Given the description of an element on the screen output the (x, y) to click on. 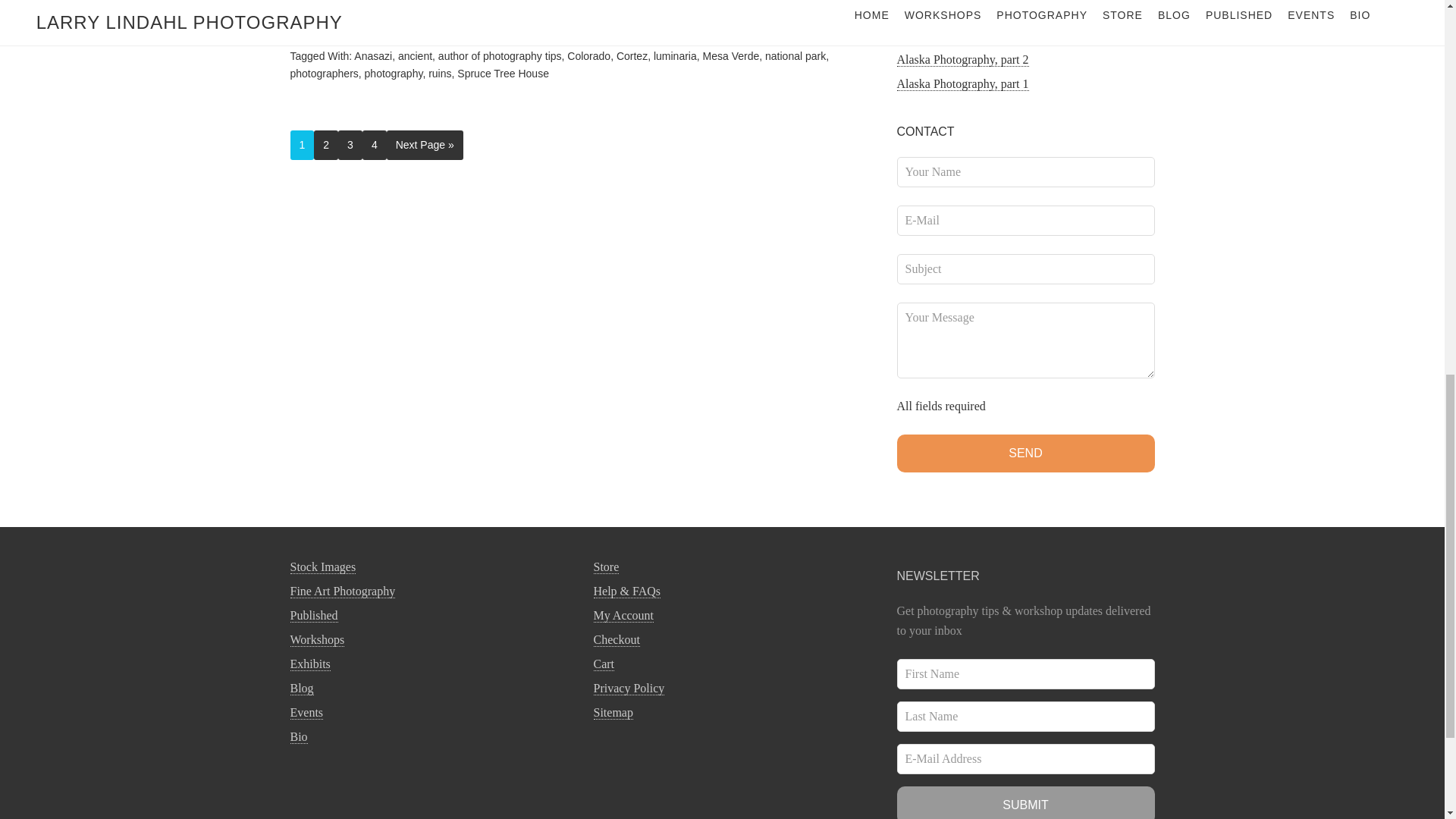
author of photography tips (500, 55)
Colorado (588, 55)
luminaria (675, 55)
Anasazi (372, 55)
Mesa Verde (731, 55)
national park (795, 55)
Submit (1025, 802)
ancient (414, 55)
Spruce Tree House (502, 72)
Cortez, Colorado (330, 18)
Send (1025, 453)
4 (374, 144)
photography (394, 72)
Cortez (631, 55)
3 (349, 144)
